Given the description of an element on the screen output the (x, y) to click on. 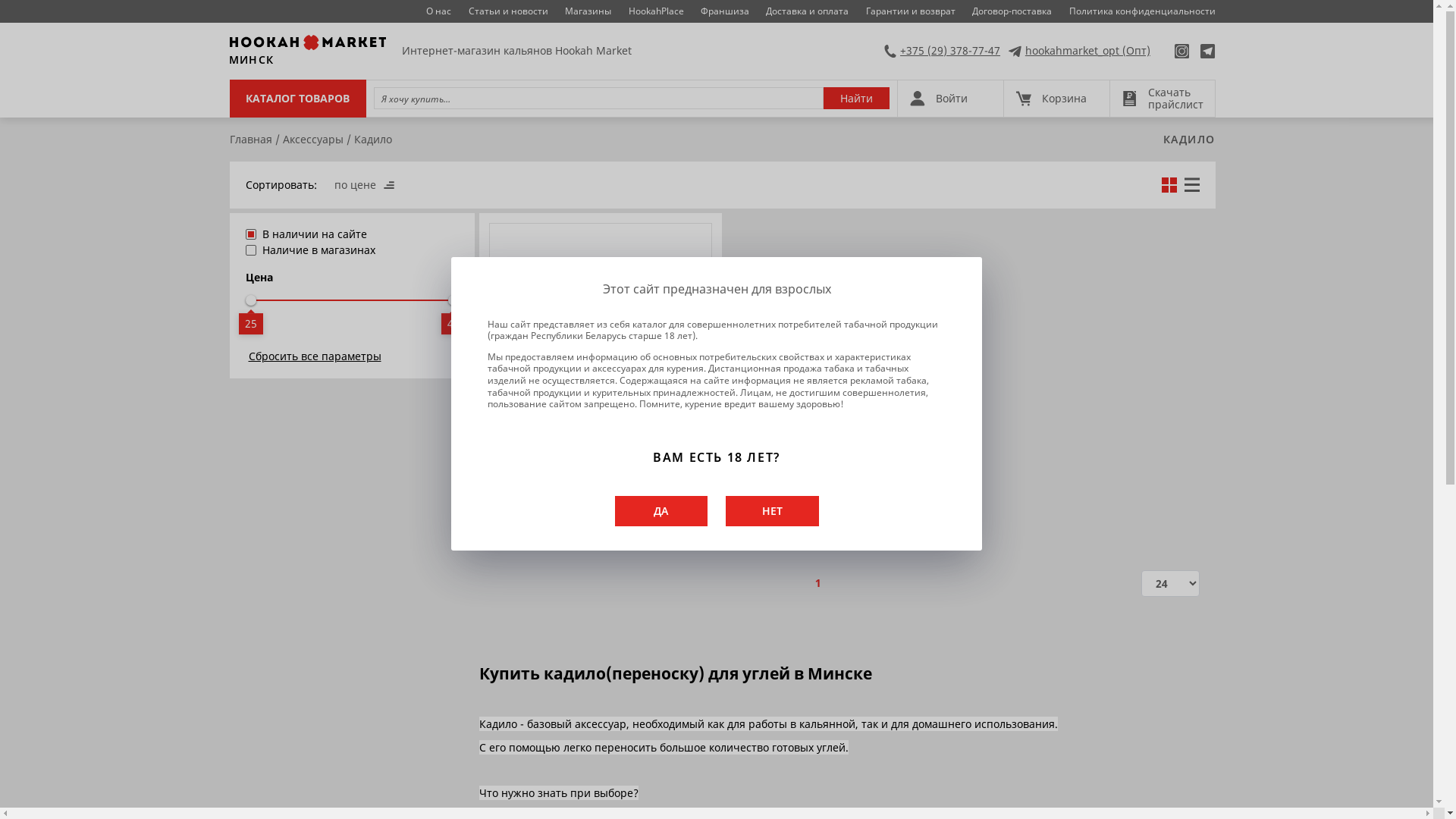
< Element type: text (793, 583)
+375 (29) 378-77-47 Element type: text (941, 50)
> Element type: text (842, 583)
1 Element type: text (818, 583)
HookahPlace Element type: text (656, 11)
